Given the description of an element on the screen output the (x, y) to click on. 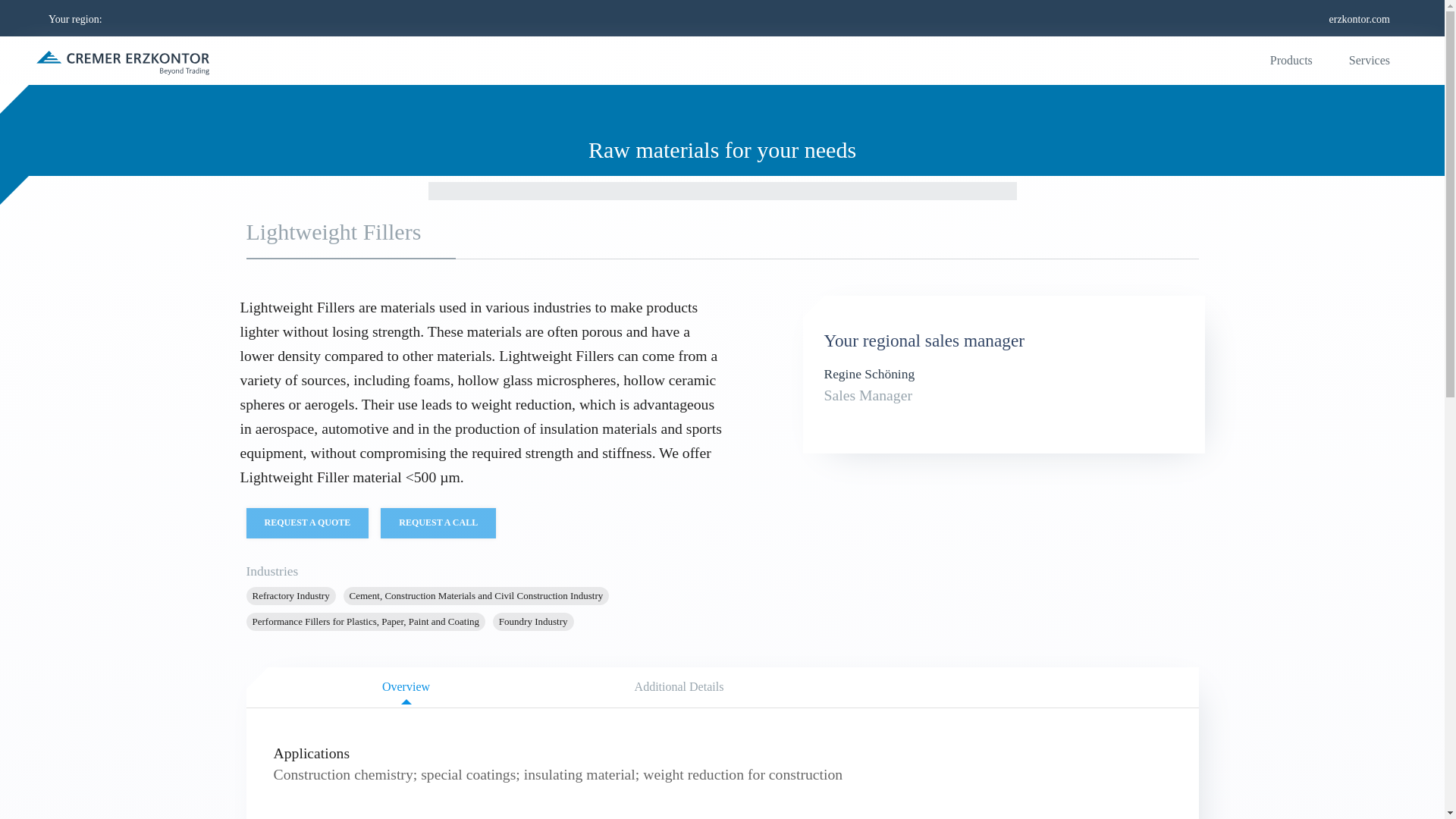
Foundry Industry (533, 621)
erzkontor.com (1359, 17)
REQUEST A QUOTE (307, 522)
Services (1369, 60)
Additional Details (732, 687)
Performance Fillers for Plastics, Paper, Paint and Coating (679, 687)
REQUEST A CALL (365, 621)
Refractory Industry (438, 522)
